Given the description of an element on the screen output the (x, y) to click on. 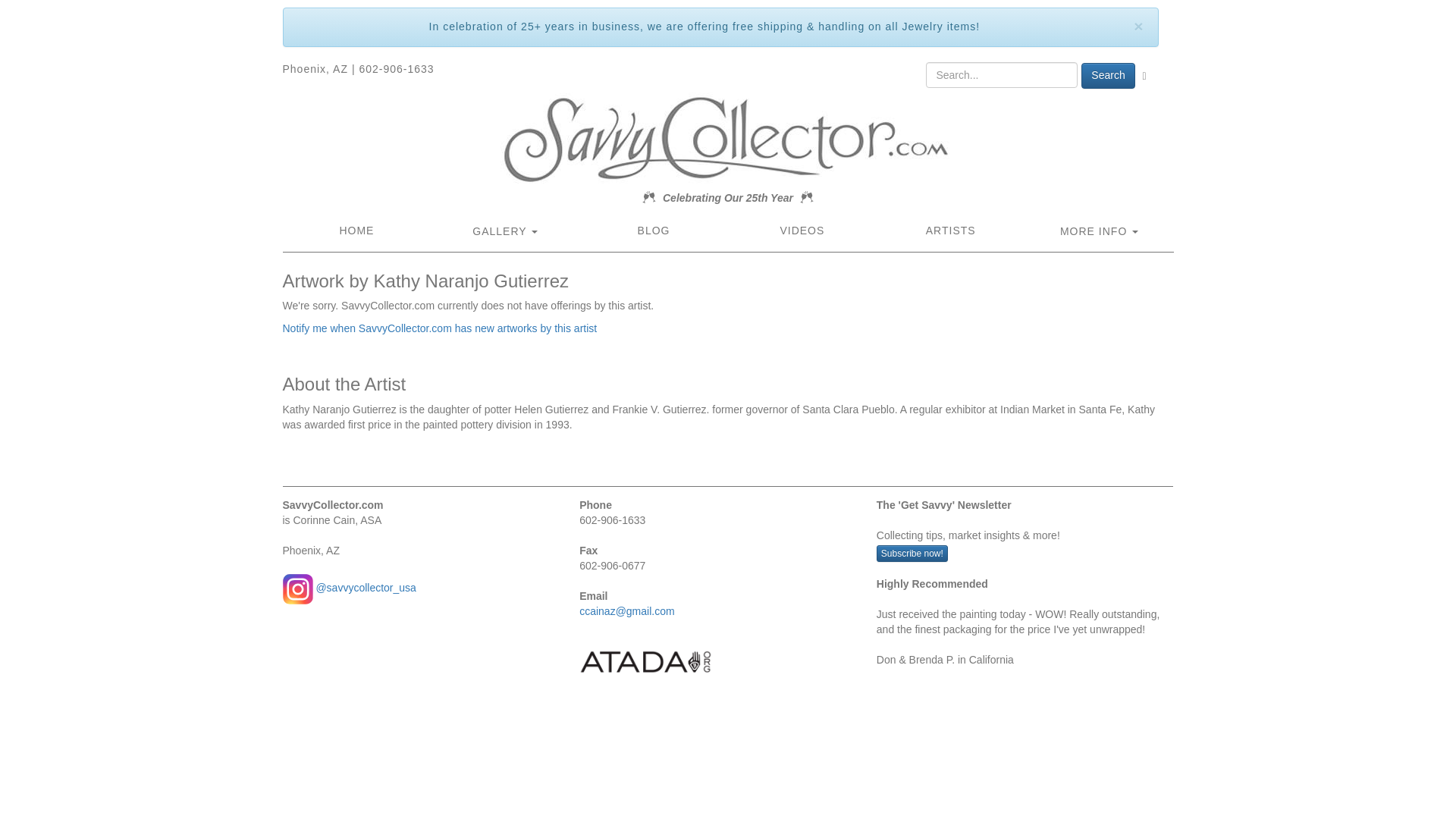
GALLERY (504, 231)
Search (1107, 75)
HOME (356, 230)
Search (1107, 75)
